Given the description of an element on the screen output the (x, y) to click on. 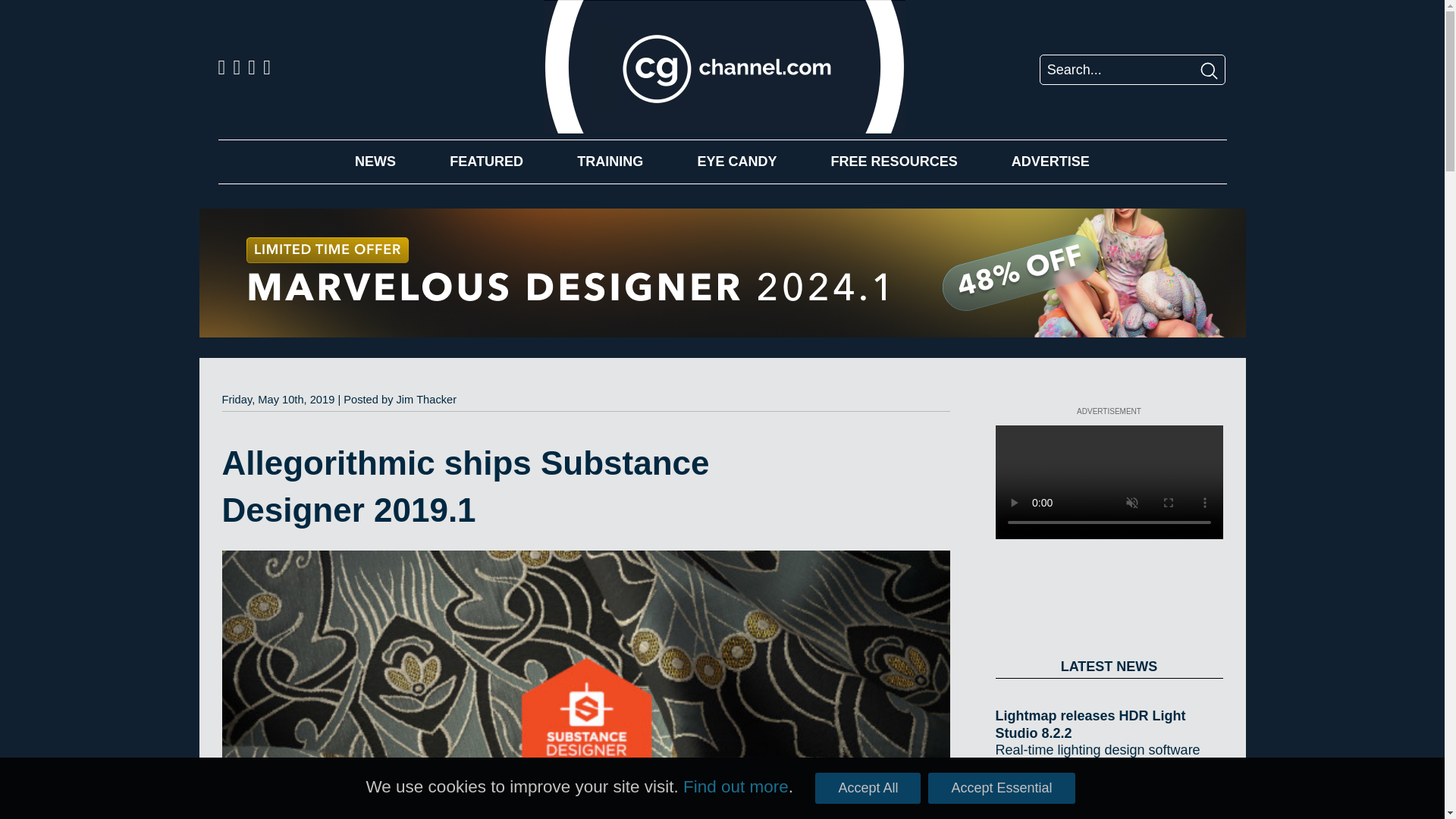
TRAINING (609, 160)
FREE RESOURCES (894, 160)
EYE CANDY (736, 160)
FEATURED (485, 160)
NEWS (375, 160)
ADVERTISE (1050, 160)
